Given the description of an element on the screen output the (x, y) to click on. 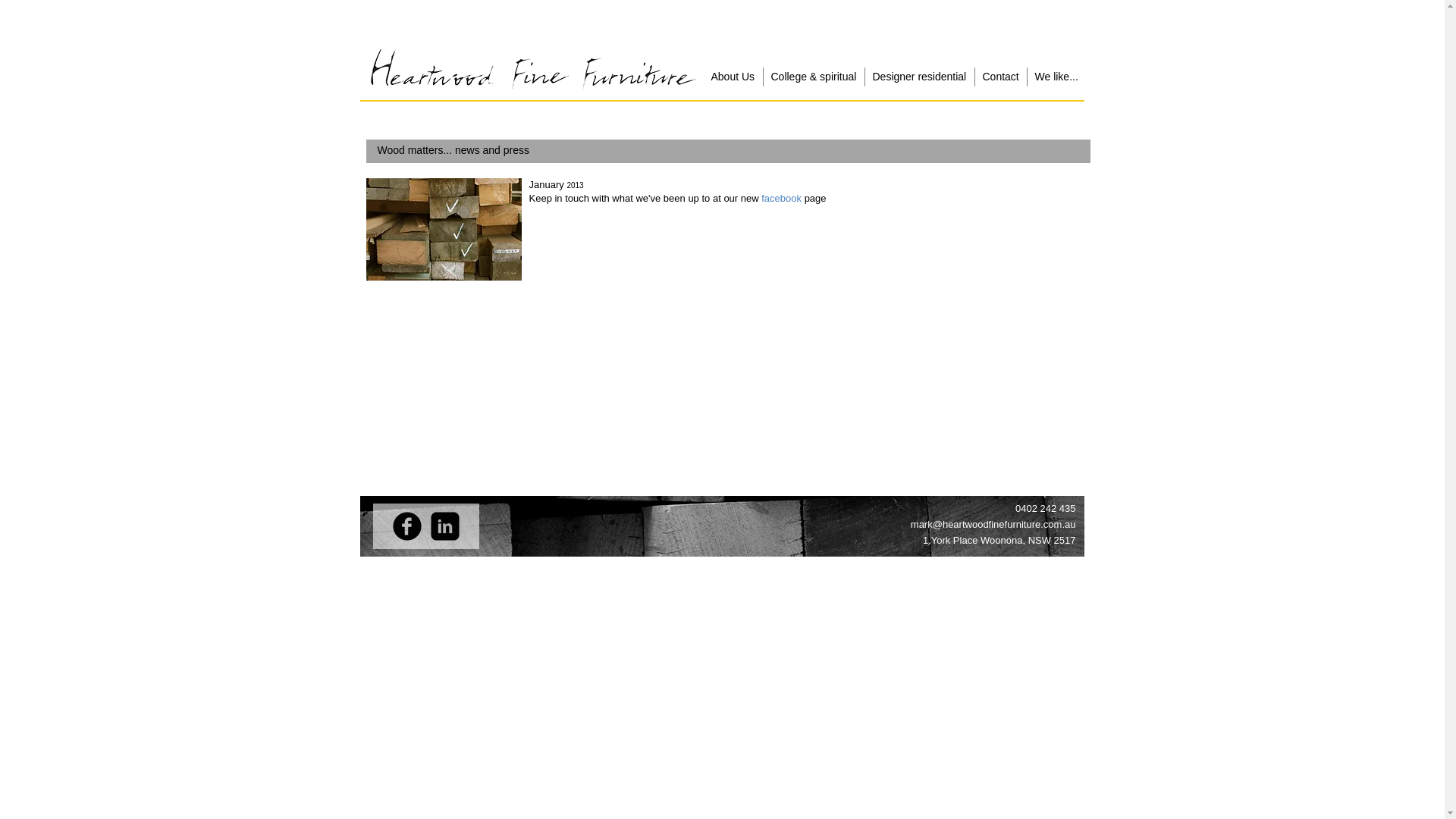
We like... Element type: text (1055, 76)
About Us Element type: text (732, 76)
Designer residential Element type: text (918, 76)
our new facebook page Element type: text (774, 197)
Contact Element type: text (1000, 76)
College & spiritual Element type: text (812, 76)
0402 242 435 Element type: text (1045, 508)
mark@heartwoodfinefurniture.com.au Element type: text (993, 524)
